Given the description of an element on the screen output the (x, y) to click on. 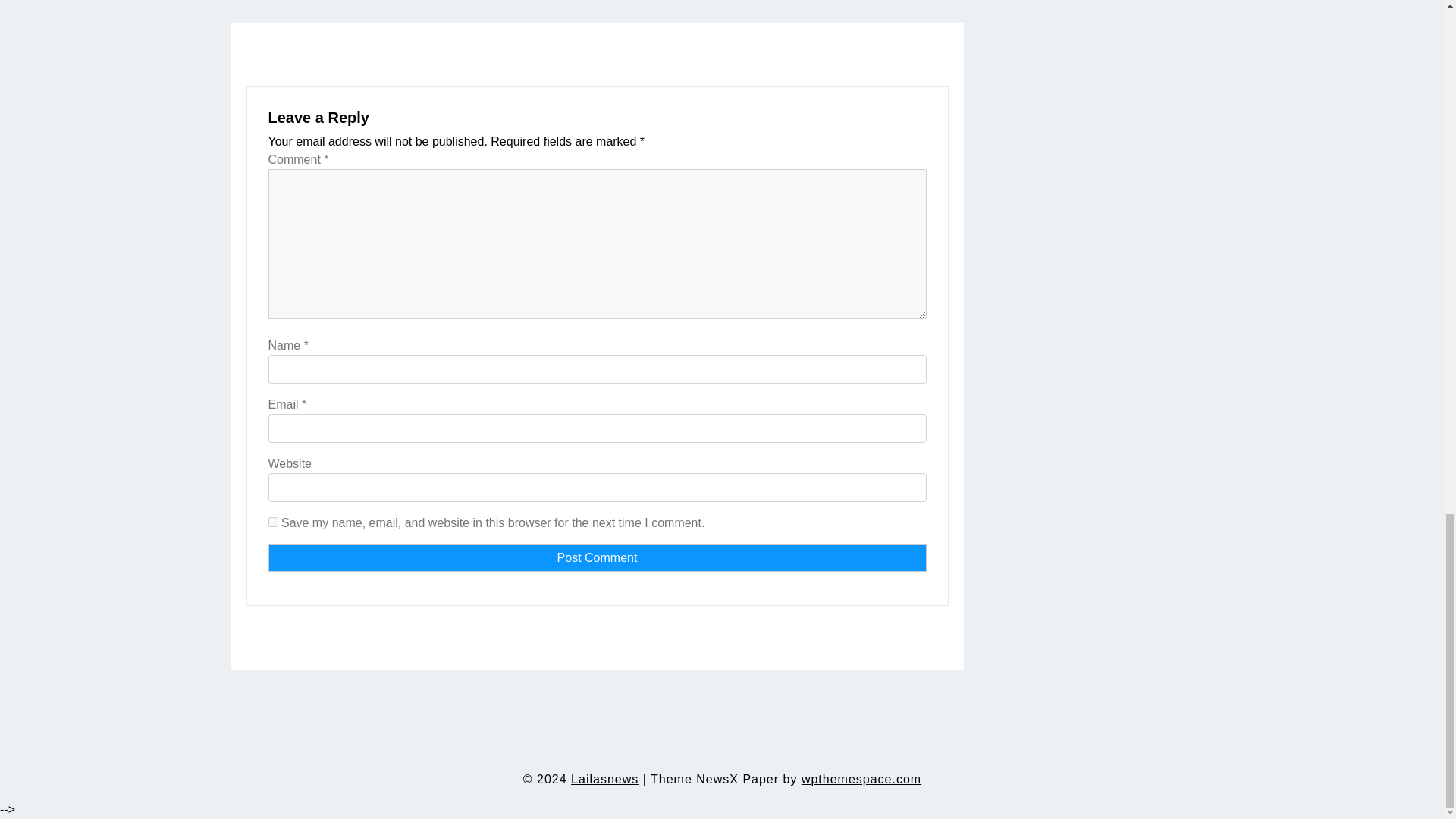
wpthemespace.com (861, 779)
Post Comment (596, 557)
yes (272, 521)
Post Comment (596, 557)
Lailasnews (604, 779)
